Given the description of an element on the screen output the (x, y) to click on. 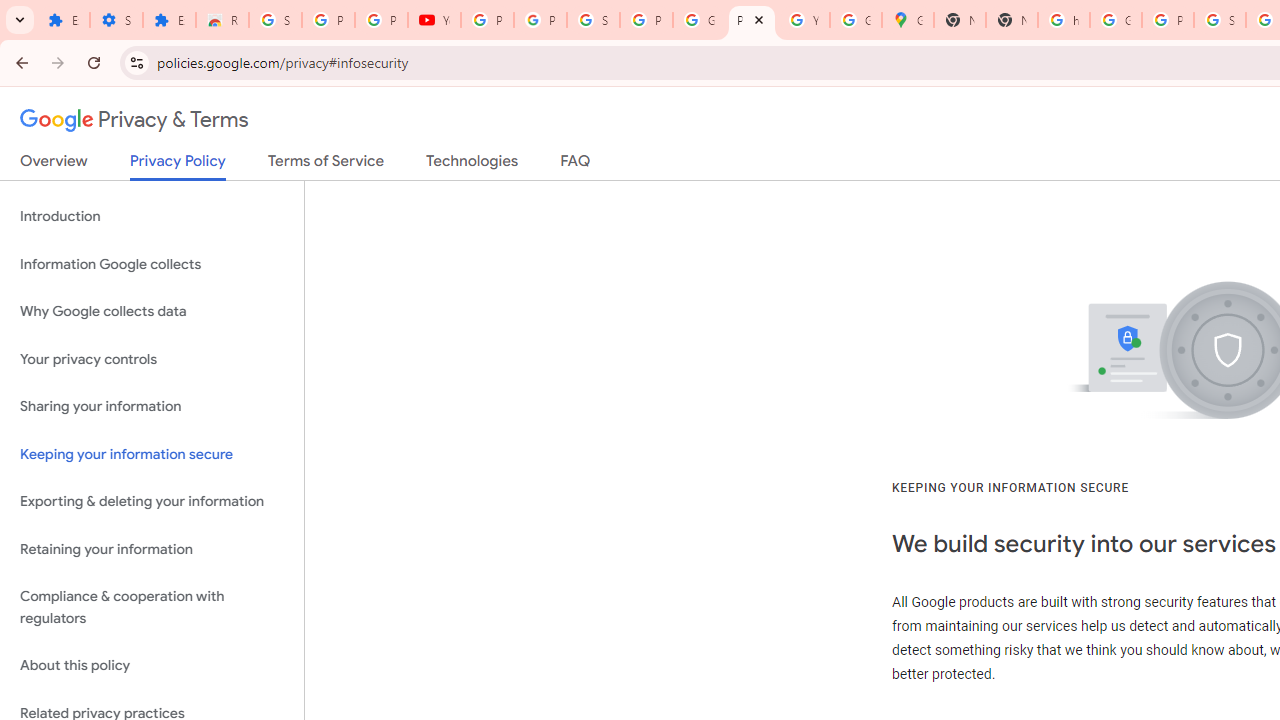
Sign in - Google Accounts (593, 20)
Extensions (63, 20)
YouTube (803, 20)
